Given the description of an element on the screen output the (x, y) to click on. 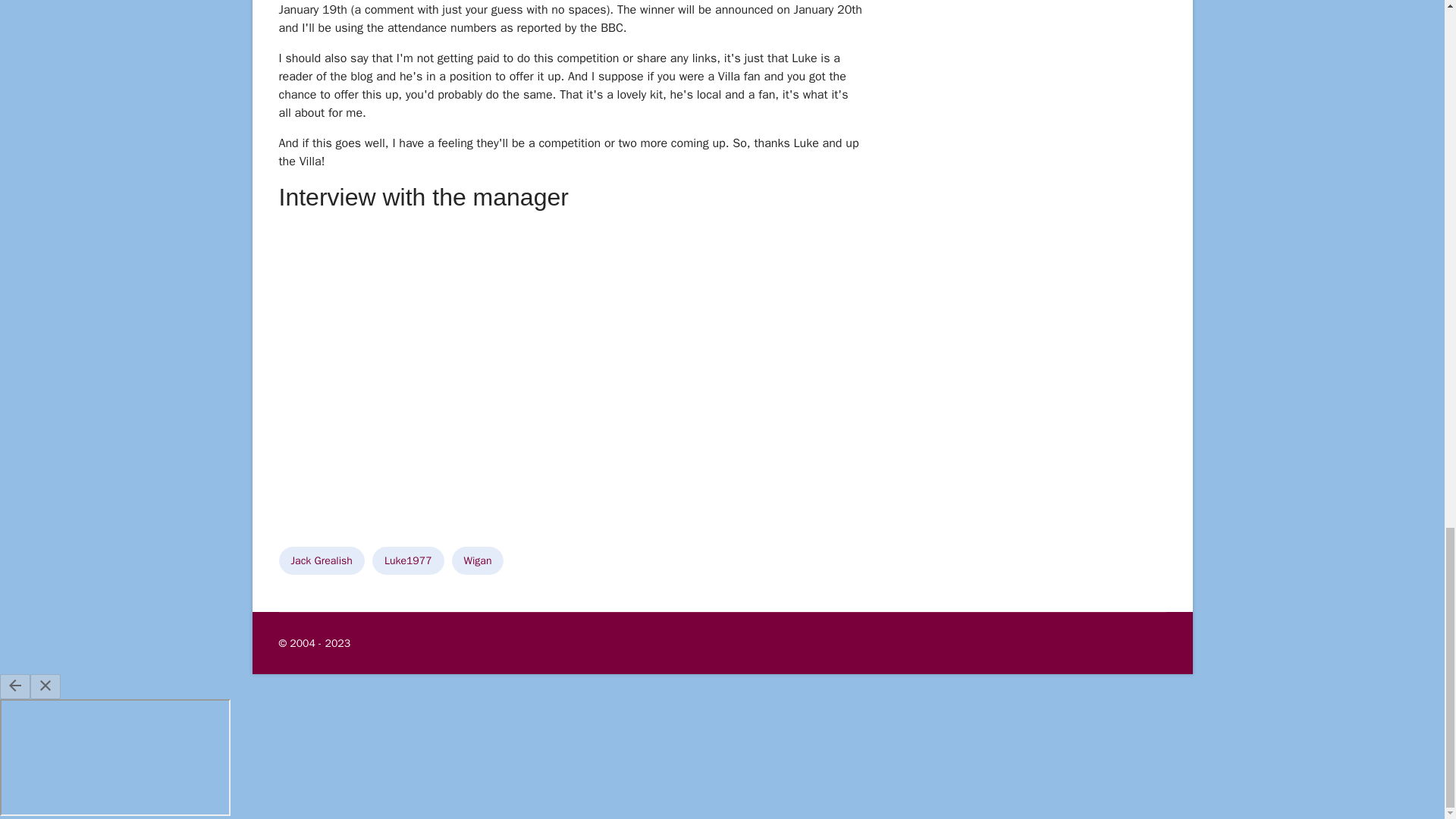
The Aston Villa Blog (399, 643)
Luke1977 (408, 560)
Jack Grealish (322, 560)
Aston Villa AVFC Blog (399, 643)
Wigan (477, 560)
